Given the description of an element on the screen output the (x, y) to click on. 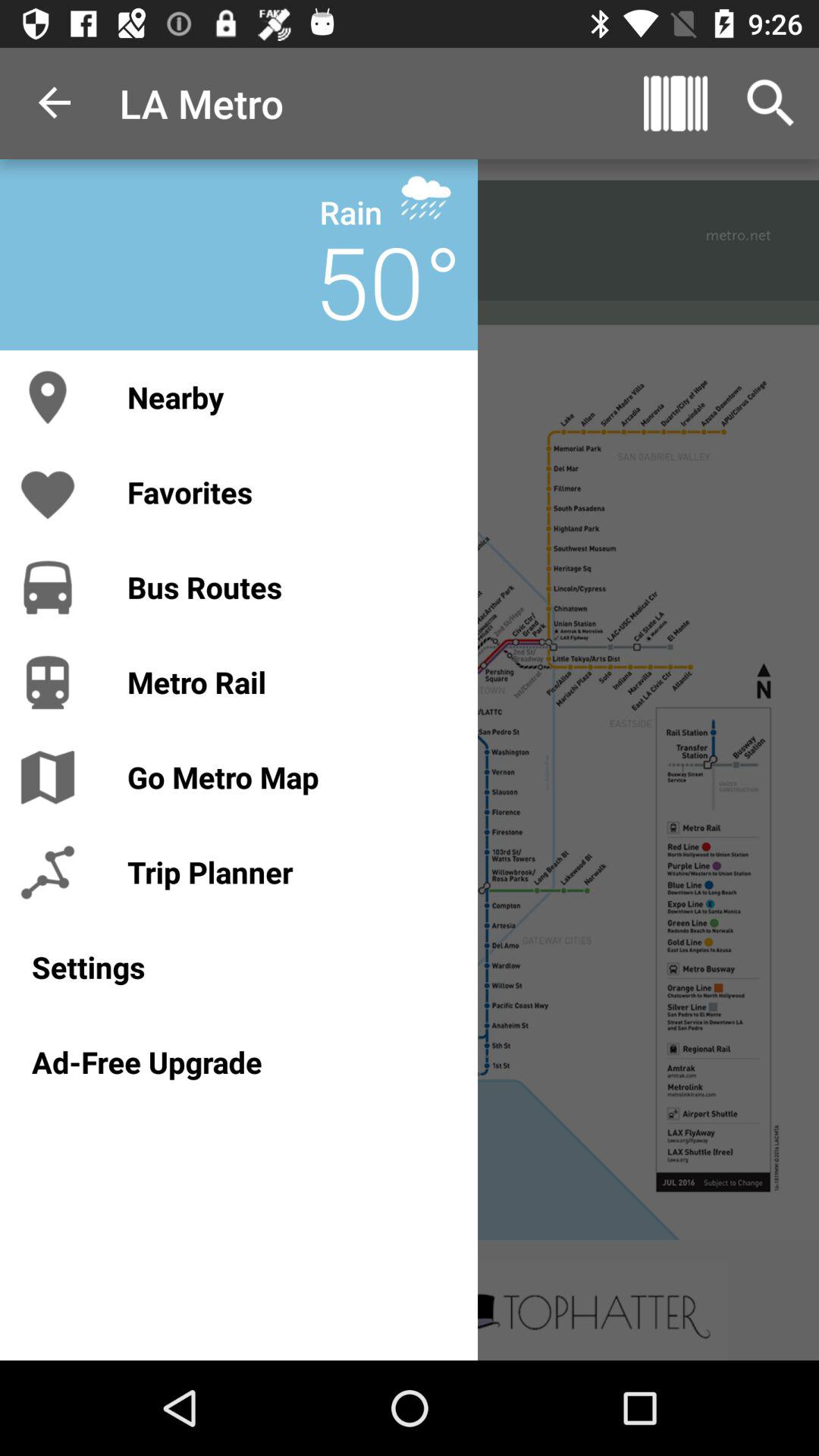
swipe to the trip planner item (286, 871)
